Given the description of an element on the screen output the (x, y) to click on. 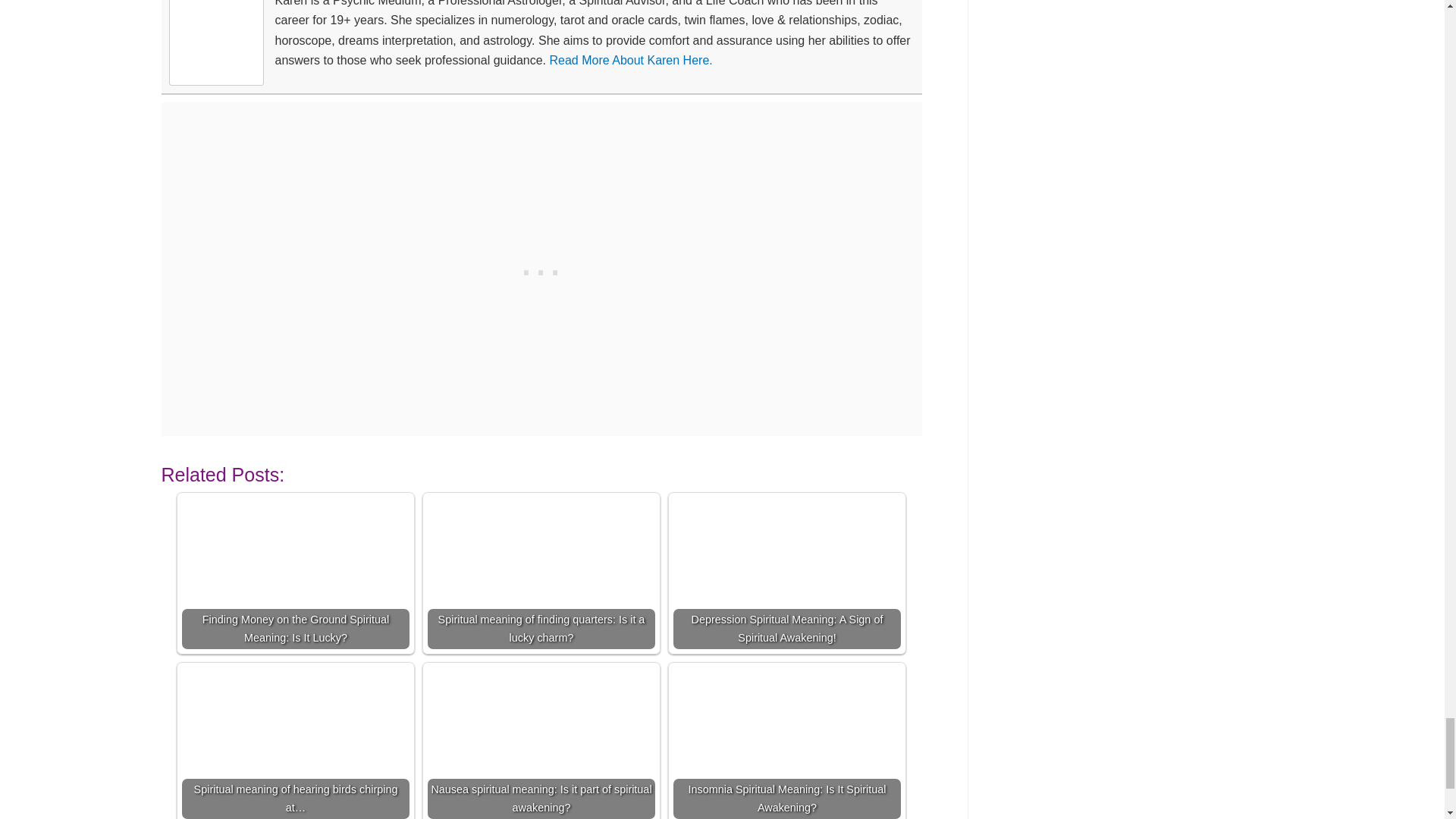
Nausea spiritual meaning: Is it part of spiritual awakening? (541, 743)
Finding Money on the Ground Spiritual Meaning: Is It Lucky? (295, 573)
Insomnia Spiritual Meaning: Is It Spiritual Awakening? (786, 743)
Depression Spiritual Meaning: A Sign of Spiritual Awakening! (786, 573)
Spiritual meaning of finding quarters: Is it a lucky charm? (541, 573)
